Given the description of an element on the screen output the (x, y) to click on. 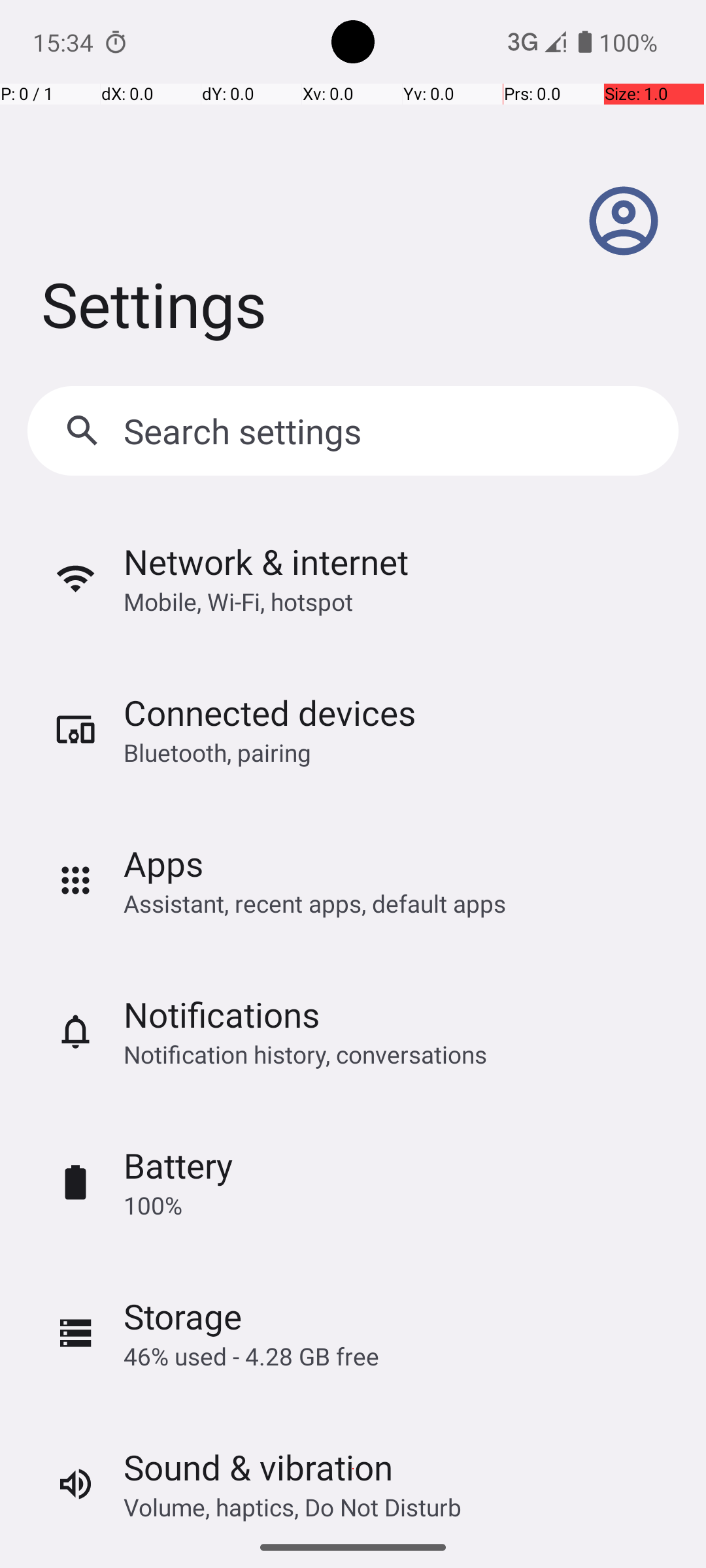
46% used - 4.28 GB free Element type: android.widget.TextView (251, 1355)
